Given the description of an element on the screen output the (x, y) to click on. 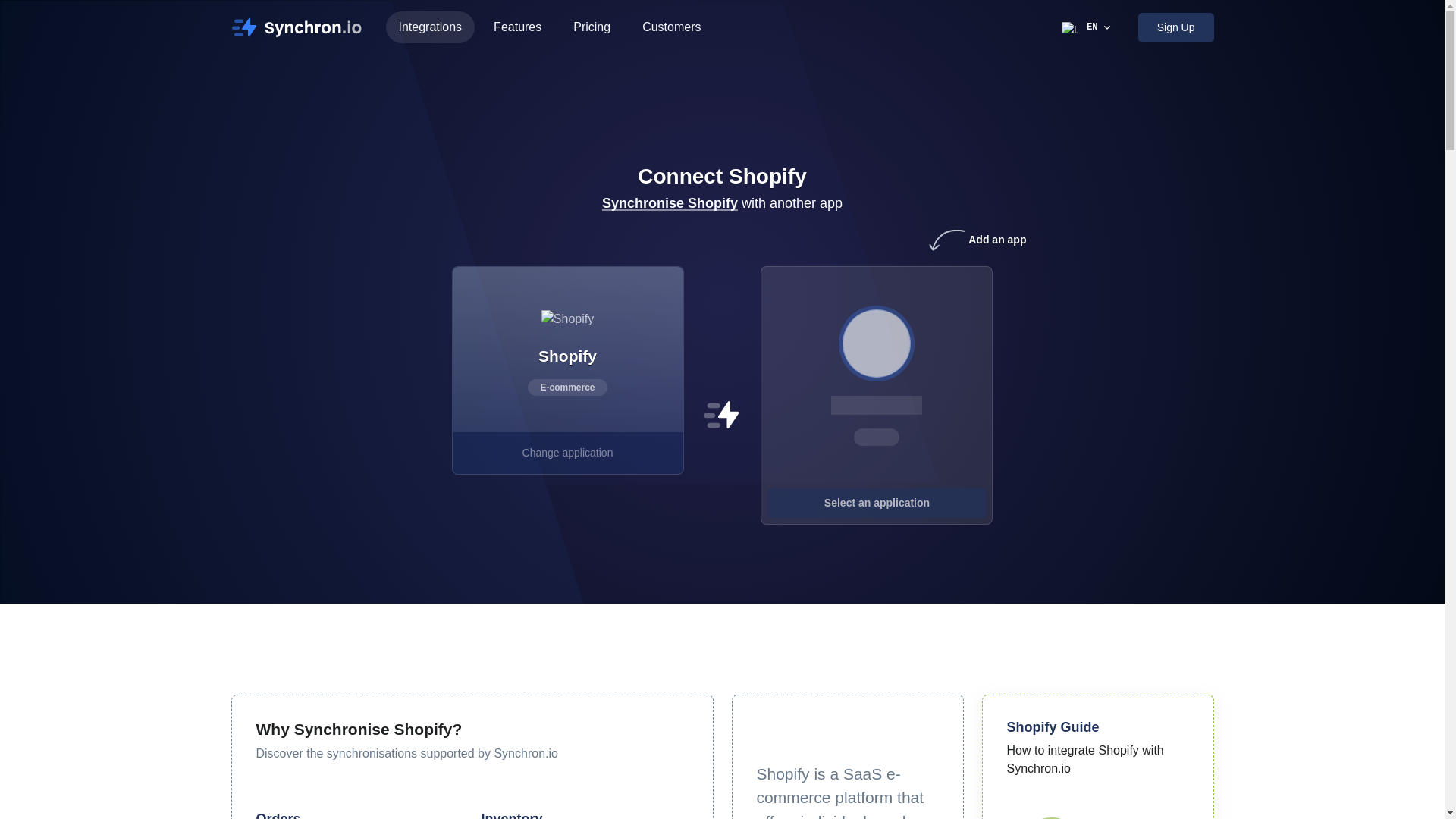
Customers (670, 27)
Select an application (876, 502)
EN (1086, 26)
Synchron.io (301, 26)
Select an application (877, 343)
Change application (567, 452)
Pricing (591, 27)
Orders (278, 815)
Features (517, 27)
Integrations (429, 27)
Sign Up (1176, 26)
Inventory (510, 815)
